Given the description of an element on the screen output the (x, y) to click on. 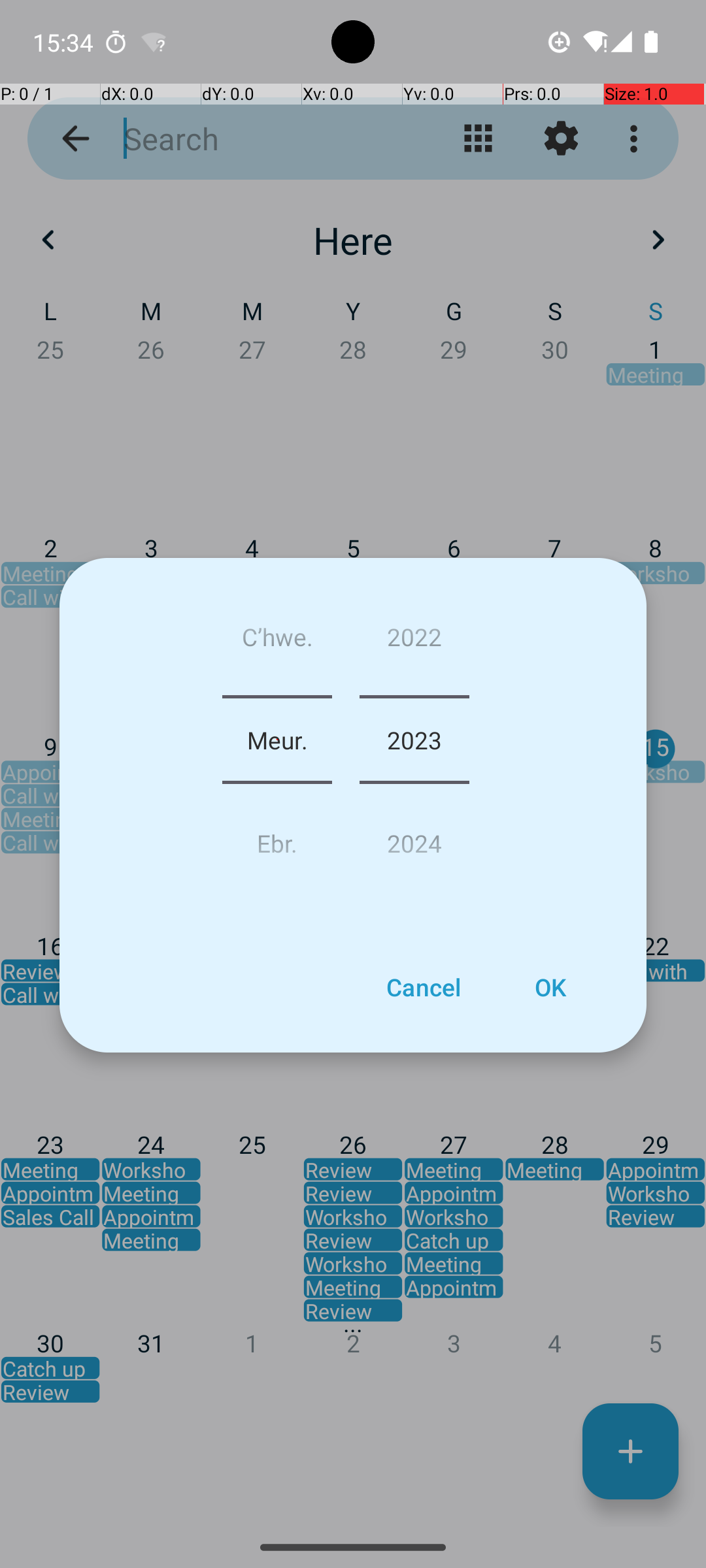
Cʼhwe. Element type: android.widget.Button (277, 641)
Meur. Element type: android.widget.EditText (277, 739)
Ebr. Element type: android.widget.Button (277, 837)
